Given the description of an element on the screen output the (x, y) to click on. 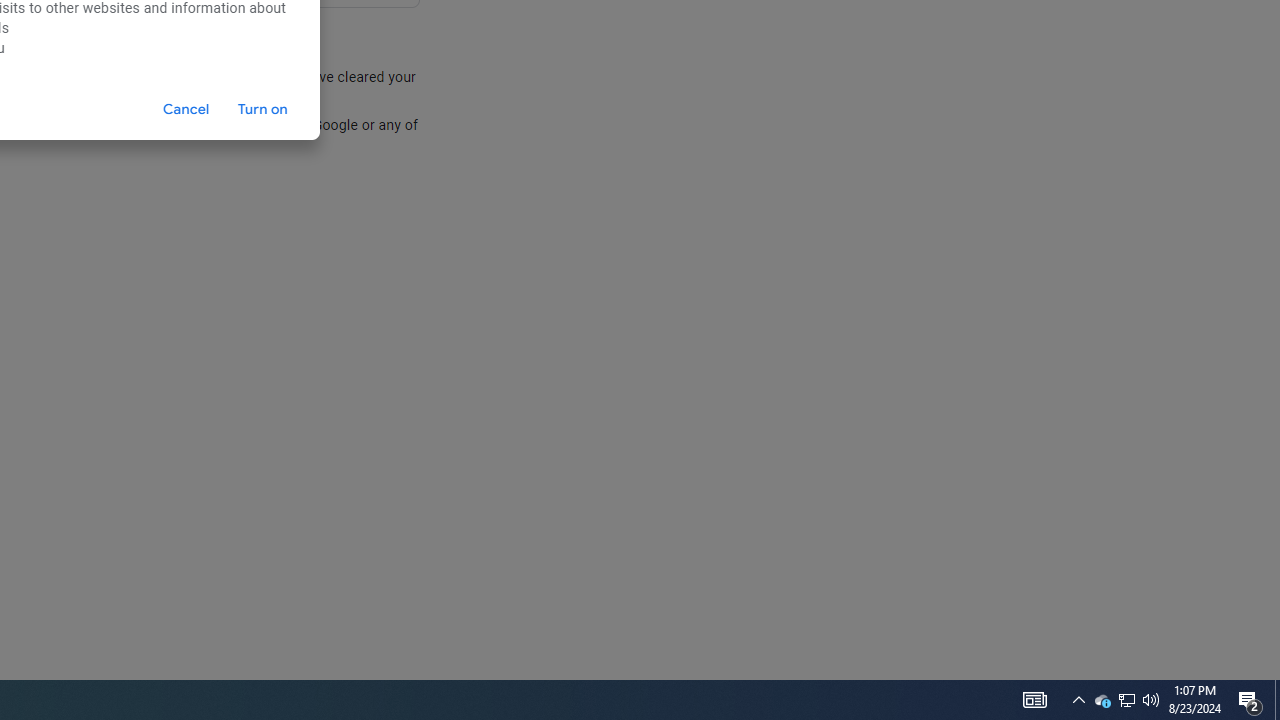
Turn on (262, 109)
Cancel (185, 109)
